Given the description of an element on the screen output the (x, y) to click on. 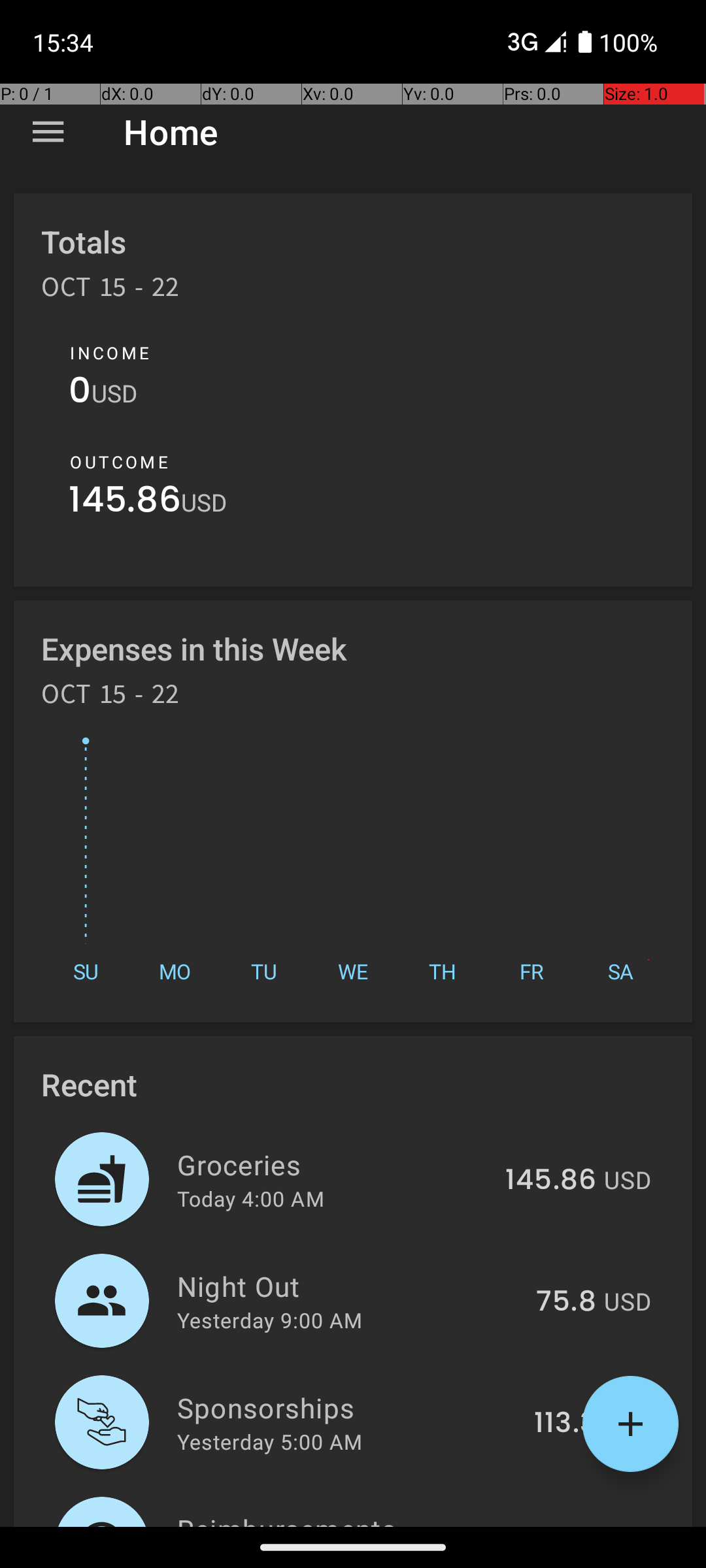
Totals Element type: android.widget.TextView (83, 240)
OCT 15 - 22 Element type: android.widget.TextView (110, 291)
INCOME Element type: android.widget.TextView (109, 352)
USD Element type: android.widget.TextView (114, 392)
OUTCOME Element type: android.widget.TextView (118, 461)
145.86 Element type: android.widget.TextView (124, 502)
Expenses in this Week Element type: android.widget.TextView (194, 648)
Recent Element type: android.widget.TextView (89, 1083)
Groceries Element type: android.widget.TextView (333, 1164)
Today 4:00 AM Element type: android.widget.TextView (250, 1198)
Night Out Element type: android.widget.TextView (348, 1285)
Yesterday 9:00 AM Element type: android.widget.TextView (269, 1320)
75.8 Element type: android.widget.TextView (565, 1301)
Sponsorships Element type: android.widget.TextView (347, 1407)
Yesterday 5:00 AM Element type: android.widget.TextView (269, 1441)
113.3 Element type: android.widget.TextView (564, 1423)
Reimbursements Element type: android.widget.TextView (331, 1518)
386.97 Element type: android.widget.TextView (548, 1524)
